Given the description of an element on the screen output the (x, y) to click on. 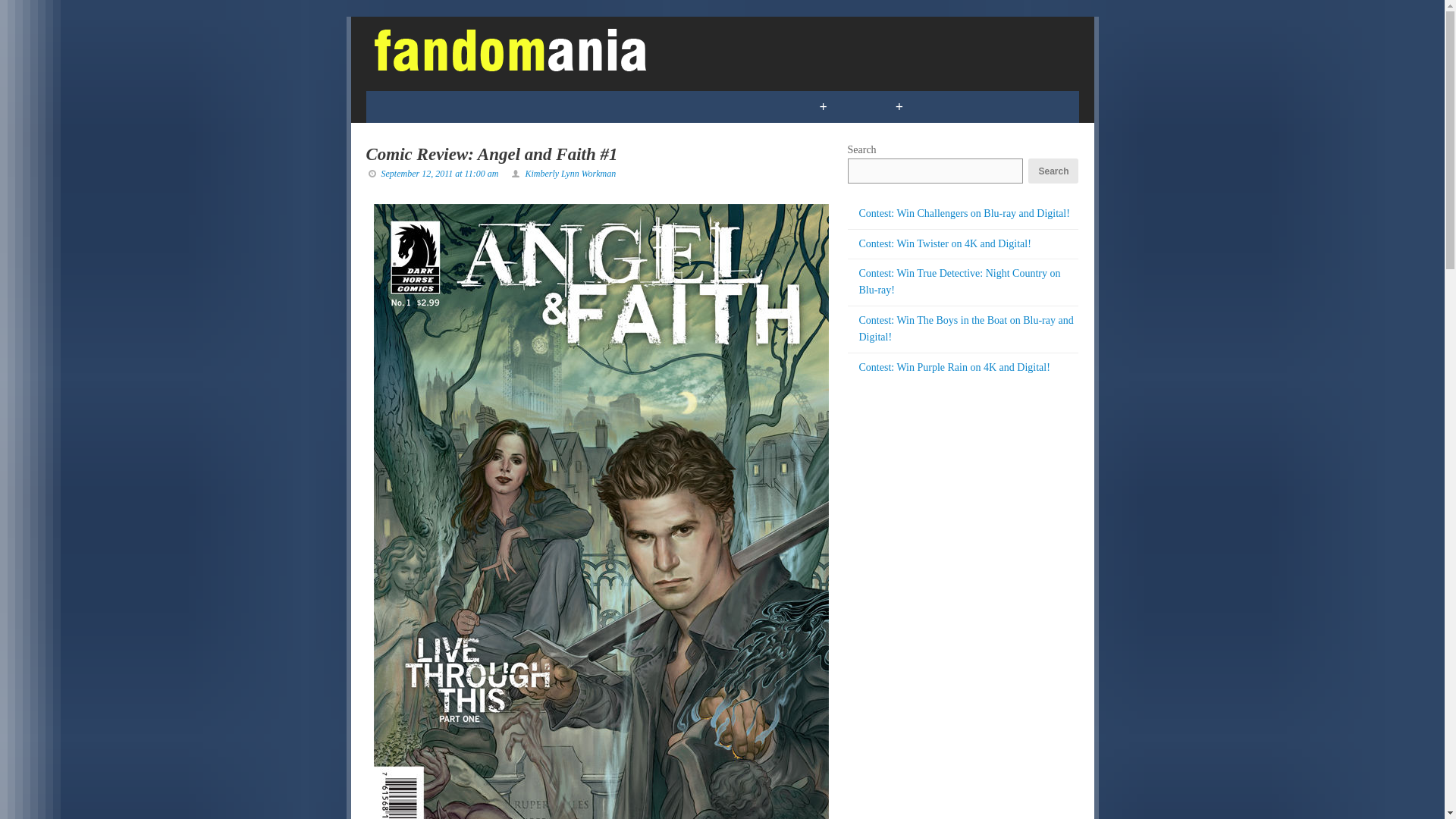
Posts by Kimberly Lynn Workman (569, 173)
TV (539, 106)
Search (1052, 170)
Contest: Win Challengers on Blu-ray and Digital! (963, 213)
Movies (602, 106)
Comics (403, 106)
Games (478, 106)
About (1015, 106)
Music (676, 106)
Contests (757, 106)
Kimberly Lynn Workman (569, 173)
September 12, 2011 at 11:00 am (438, 173)
